Given the description of an element on the screen output the (x, y) to click on. 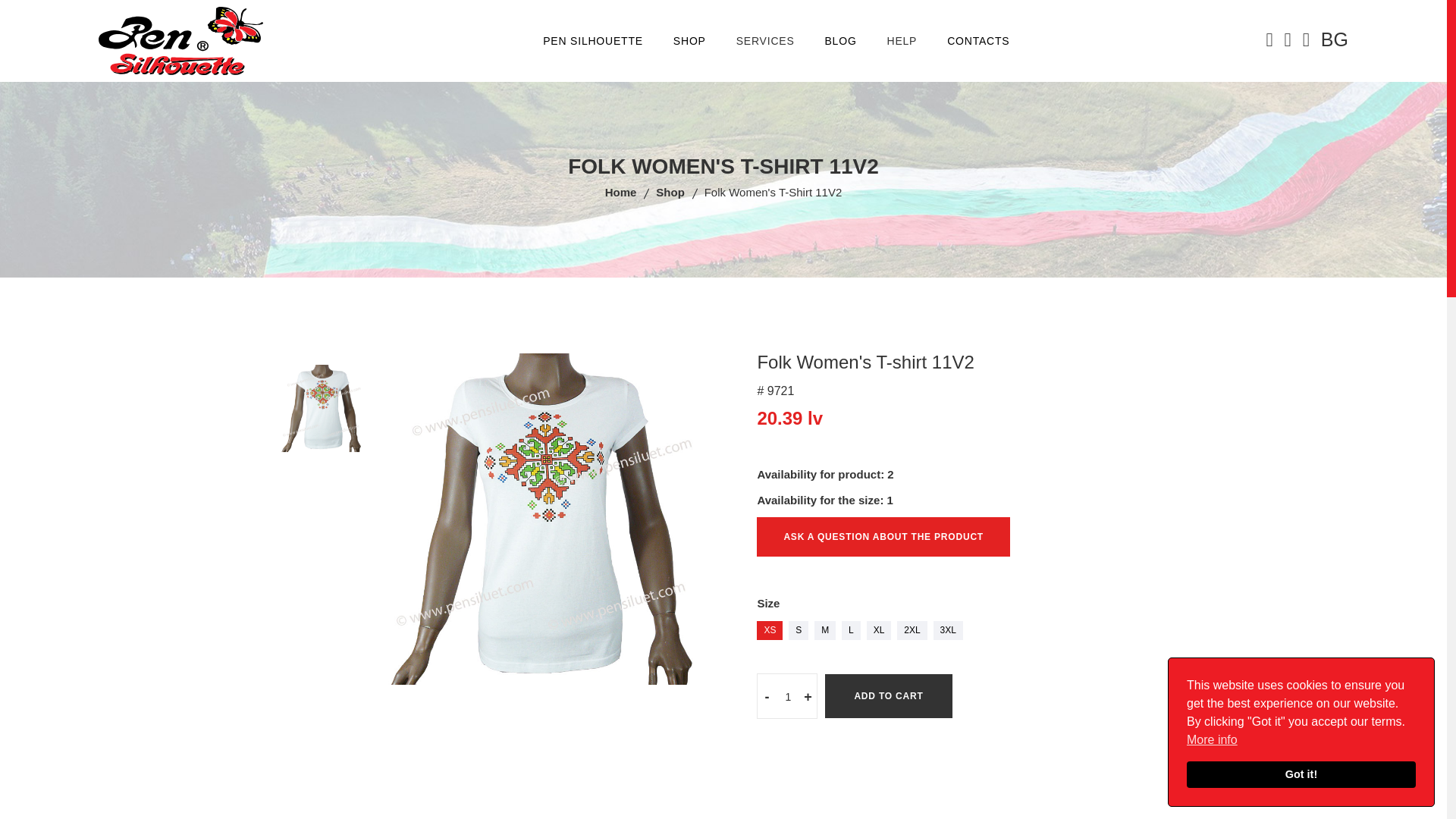
Ask a question about the product (883, 536)
1 (787, 696)
Change language to Bulgarian (1334, 39)
More info (1211, 740)
PEN SILHOUETTE (593, 40)
Got it! (1300, 774)
